Given the description of an element on the screen output the (x, y) to click on. 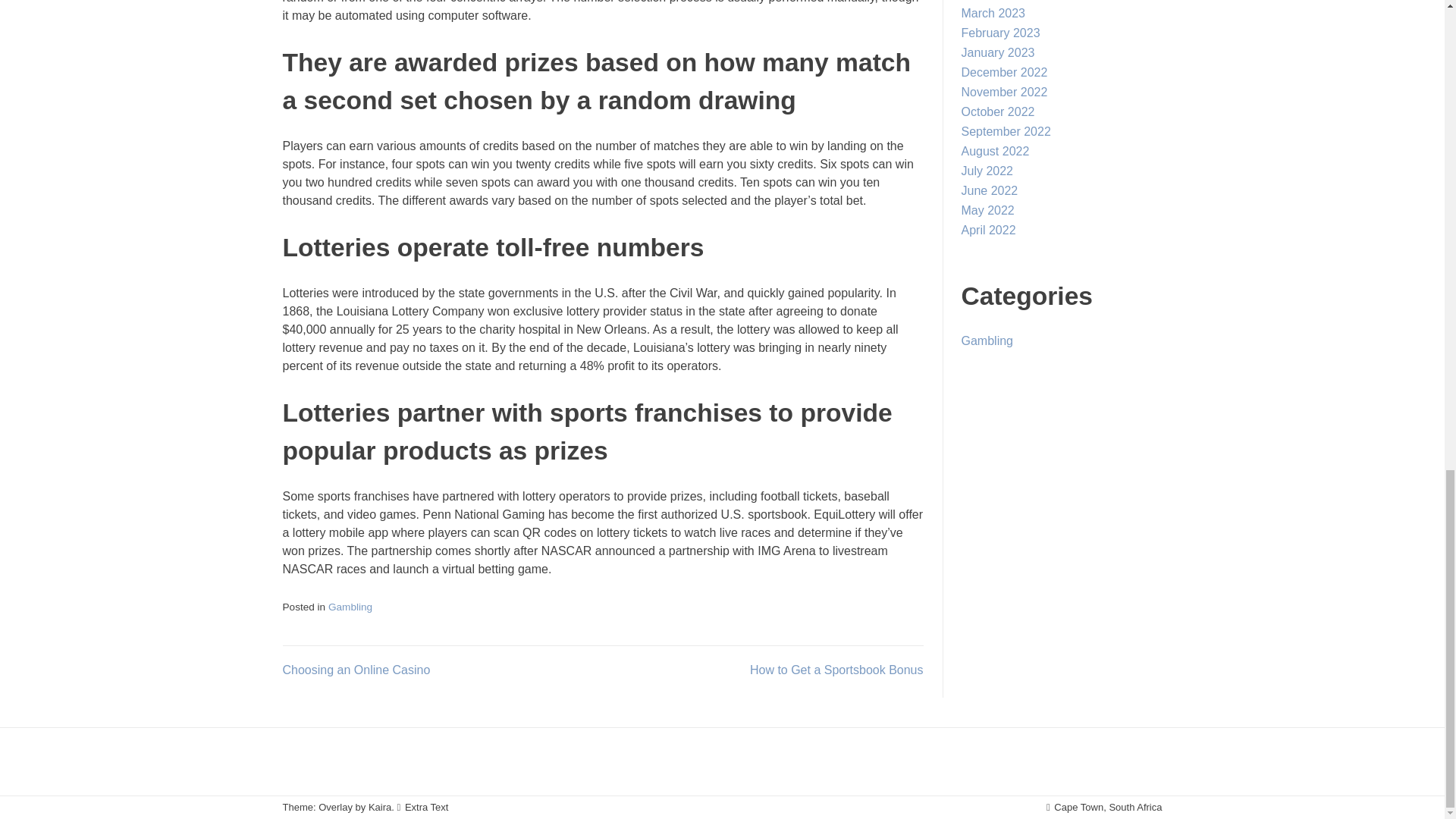
March 2023 (993, 12)
November 2022 (1004, 91)
December 2022 (1004, 72)
October 2022 (997, 111)
Choosing an Online Casino (355, 669)
How to Get a Sportsbook Bonus (836, 669)
Gambling (350, 606)
January 2023 (997, 51)
February 2023 (1000, 32)
